Given the description of an element on the screen output the (x, y) to click on. 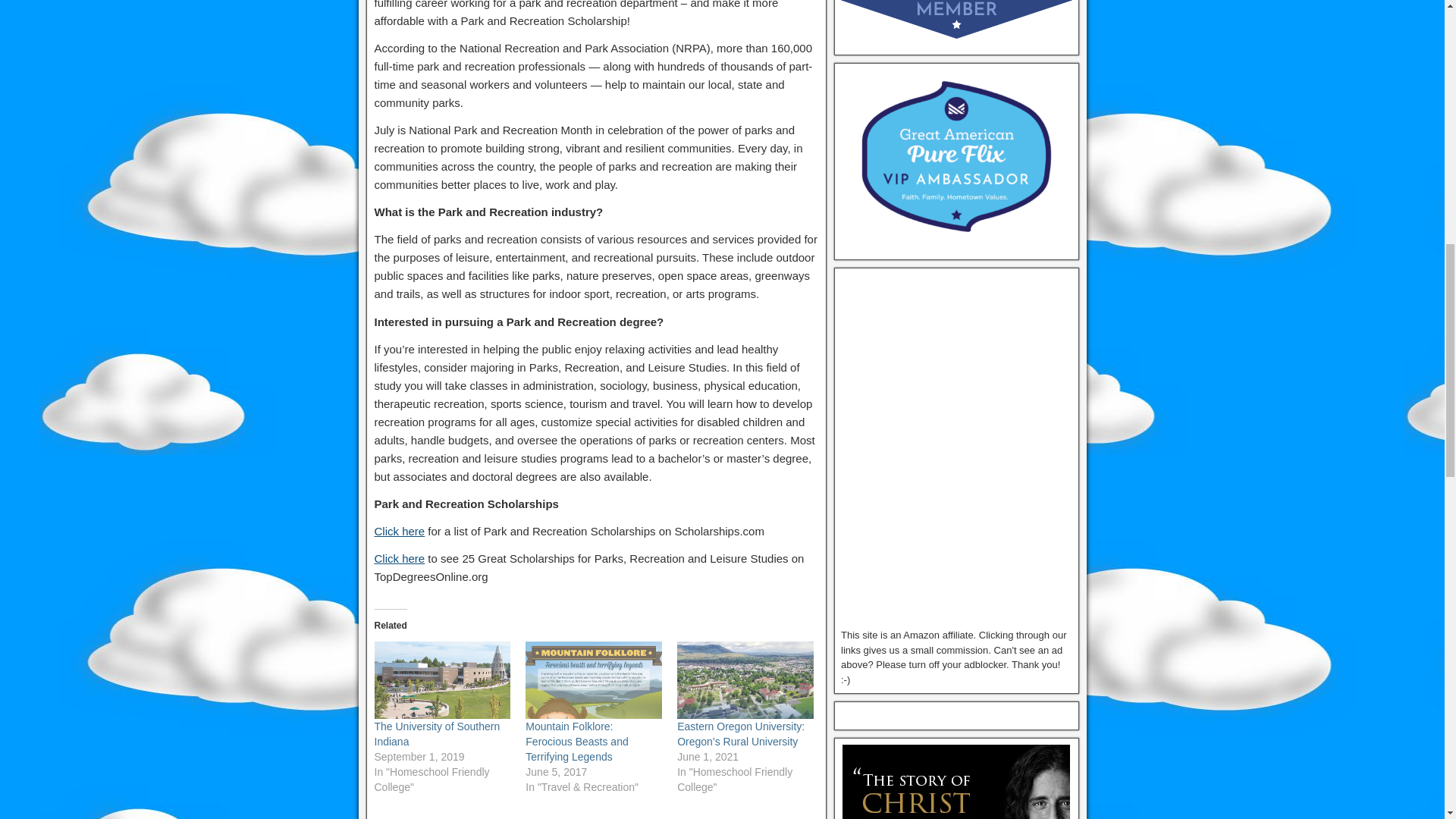
Mountain Folklore: Ferocious Beasts and Terrifying Legends (593, 680)
The University of Southern Indiana (437, 733)
Mountain Folklore: Ferocious Beasts and Terrifying Legends (576, 741)
The University of Southern Indiana (442, 680)
Click here (399, 558)
Mountain Folklore: Ferocious Beasts and Terrifying Legends (576, 741)
The University of Southern Indiana (437, 733)
Click here (399, 530)
